Given the description of an element on the screen output the (x, y) to click on. 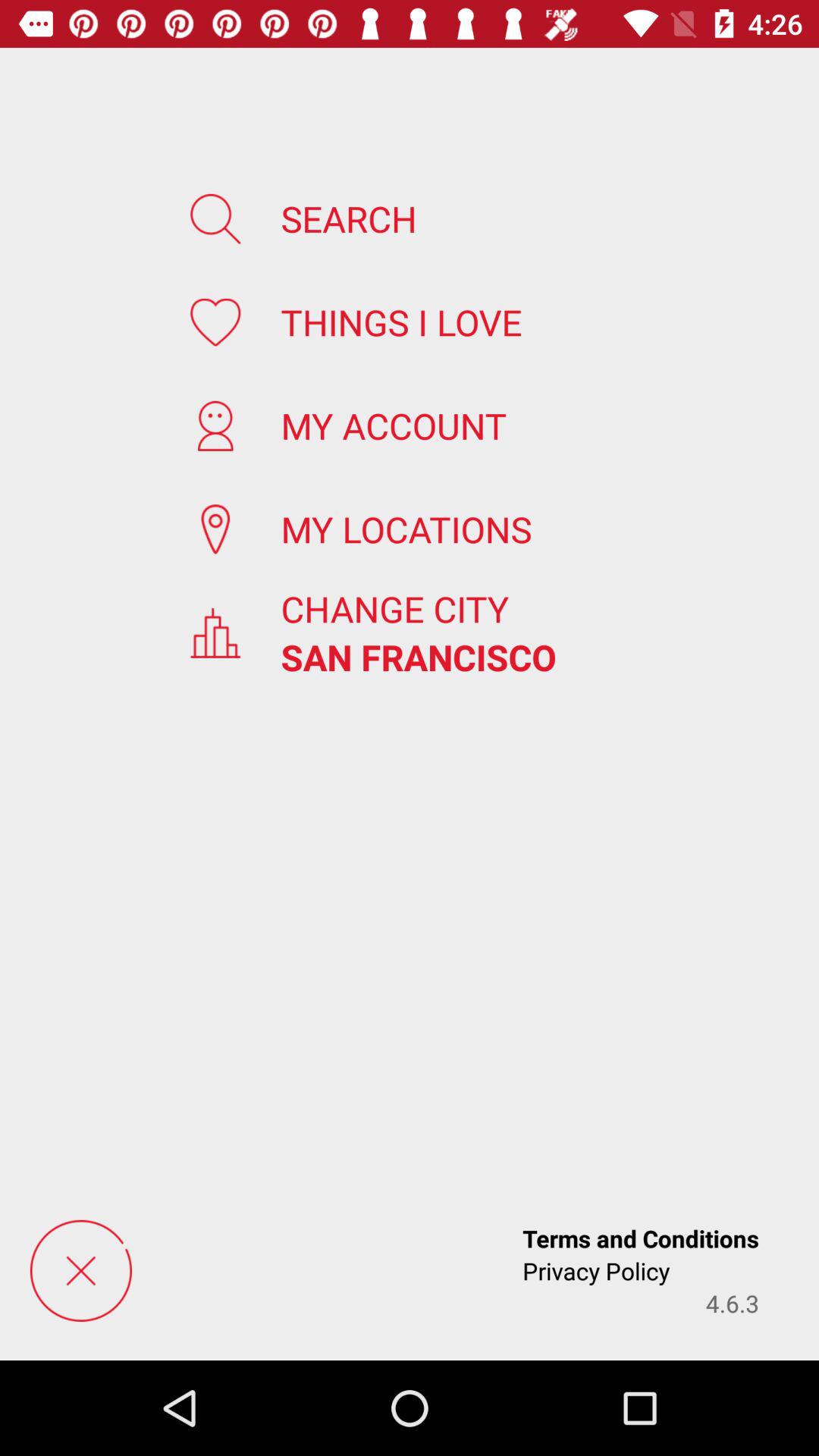
jump until things i love (401, 322)
